Given the description of an element on the screen output the (x, y) to click on. 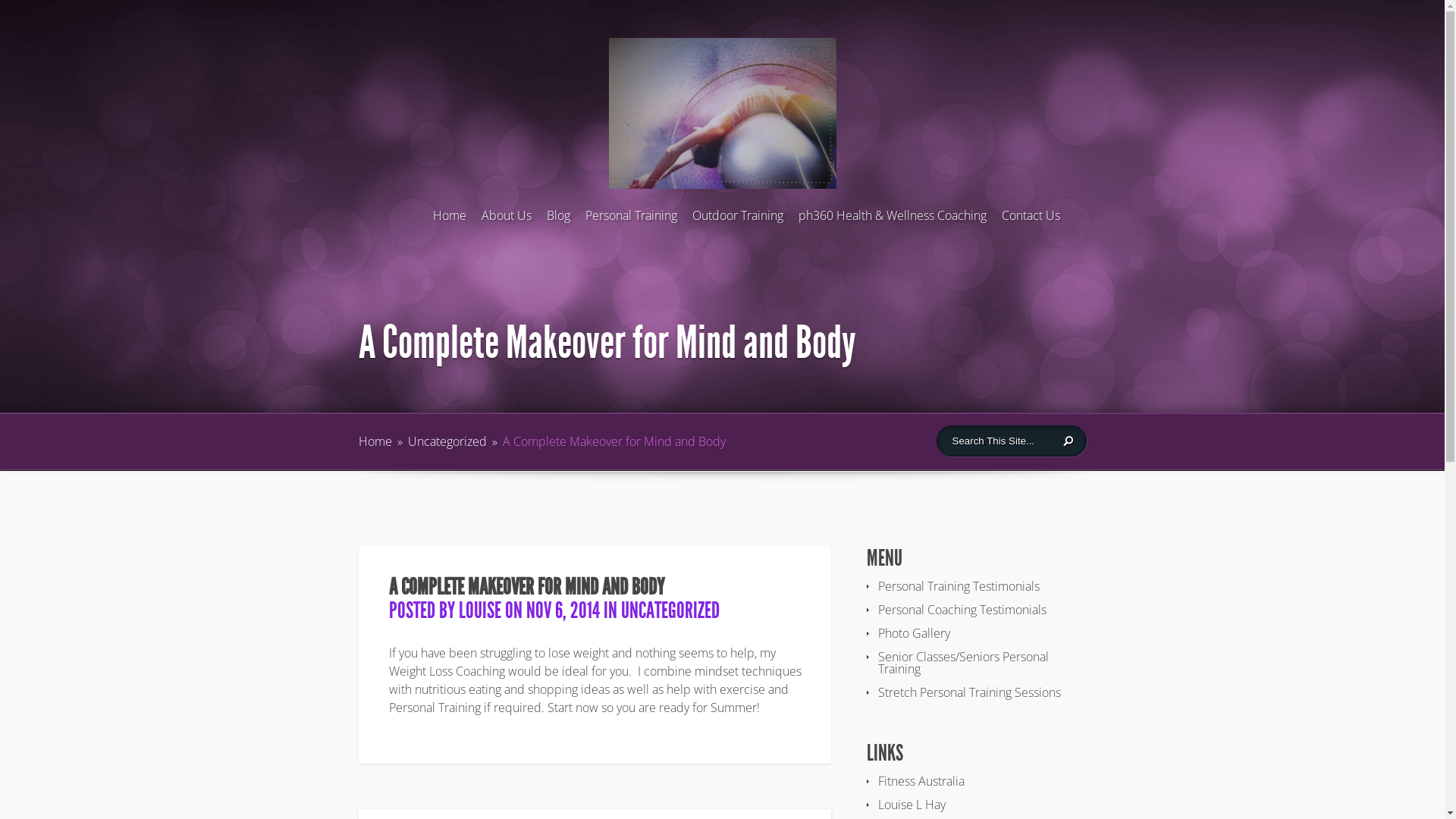
ph360 Health & Wellness Coaching Element type: text (891, 219)
Personal Training Element type: text (631, 219)
Louise L Hay Element type: text (911, 804)
Personal Training Testimonials Element type: text (958, 585)
Outdoor Training Element type: text (736, 219)
Stretch Personal Training Sessions Element type: text (969, 692)
Blog Element type: text (557, 219)
Photo Gallery Element type: text (914, 632)
Personal Coaching Testimonials Element type: text (962, 609)
UNCATEGORIZED Element type: text (669, 610)
Home Element type: text (448, 219)
About Us Element type: text (505, 219)
Fitness Australia Element type: text (921, 780)
Home Element type: text (374, 441)
Contact Us Element type: text (1030, 219)
Uncategorized Element type: text (446, 441)
Senior Classes/Seniors Personal Training Element type: text (963, 662)
LOUISE Element type: text (479, 610)
